Given the description of an element on the screen output the (x, y) to click on. 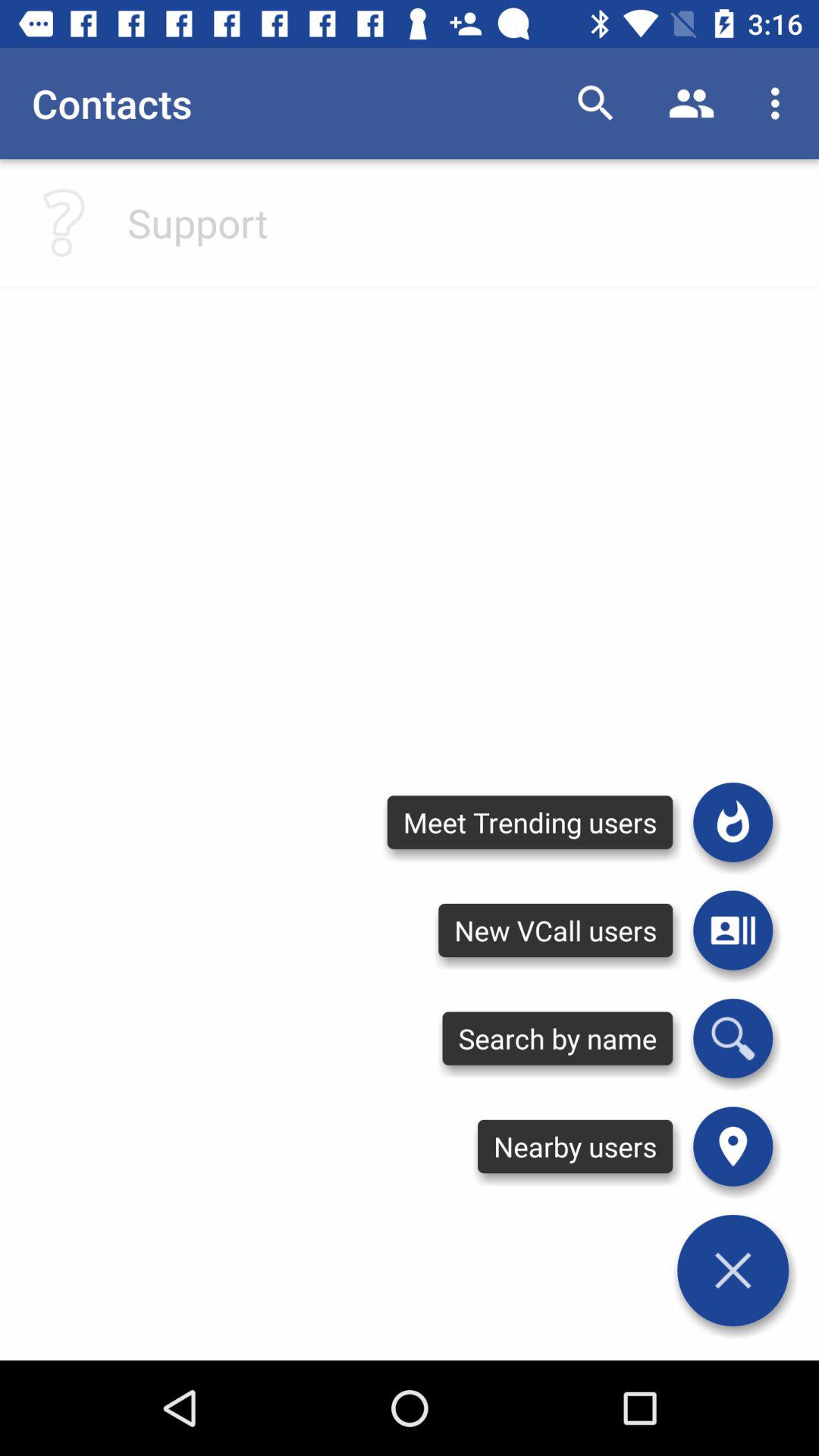
click for help with questions (63, 222)
